Given the description of an element on the screen output the (x, y) to click on. 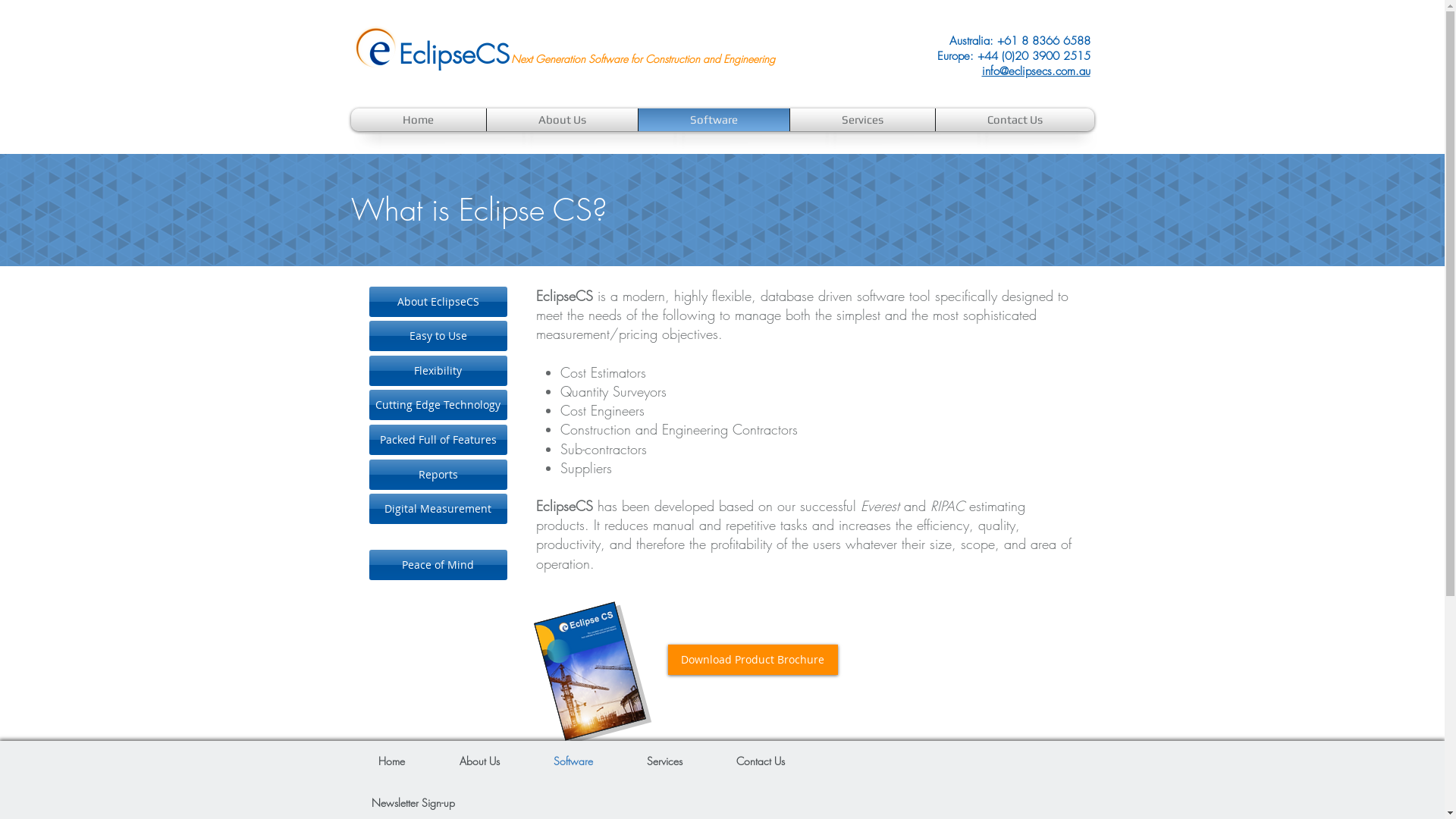
Peace of Mind Element type: text (437, 564)
Cutting Edge Technology Element type: text (437, 404)
Software Element type: text (572, 761)
Digital Measurement Element type: text (437, 508)
Download Product Brochure Element type: text (752, 659)
Home Element type: text (418, 119)
Home Element type: text (390, 761)
Packed Full of Features Element type: text (437, 439)
Contact Us Element type: text (760, 761)
Services Element type: text (861, 119)
ECS512.png Element type: hover (375, 47)
Australia: +61 8 8366 6588 Element type: text (1019, 40)
Reports Element type: text (437, 474)
Software Element type: text (712, 119)
Contact Us Element type: text (1013, 119)
info@eclipsecs.com.au Element type: text (1035, 70)
Easy to Use Element type: text (437, 335)
About EclipseCS Element type: text (437, 301)
Services Element type: text (664, 761)
About Us Element type: text (479, 761)
Flexibility Element type: text (437, 370)
About Us Element type: text (561, 119)
